Given the description of an element on the screen output the (x, y) to click on. 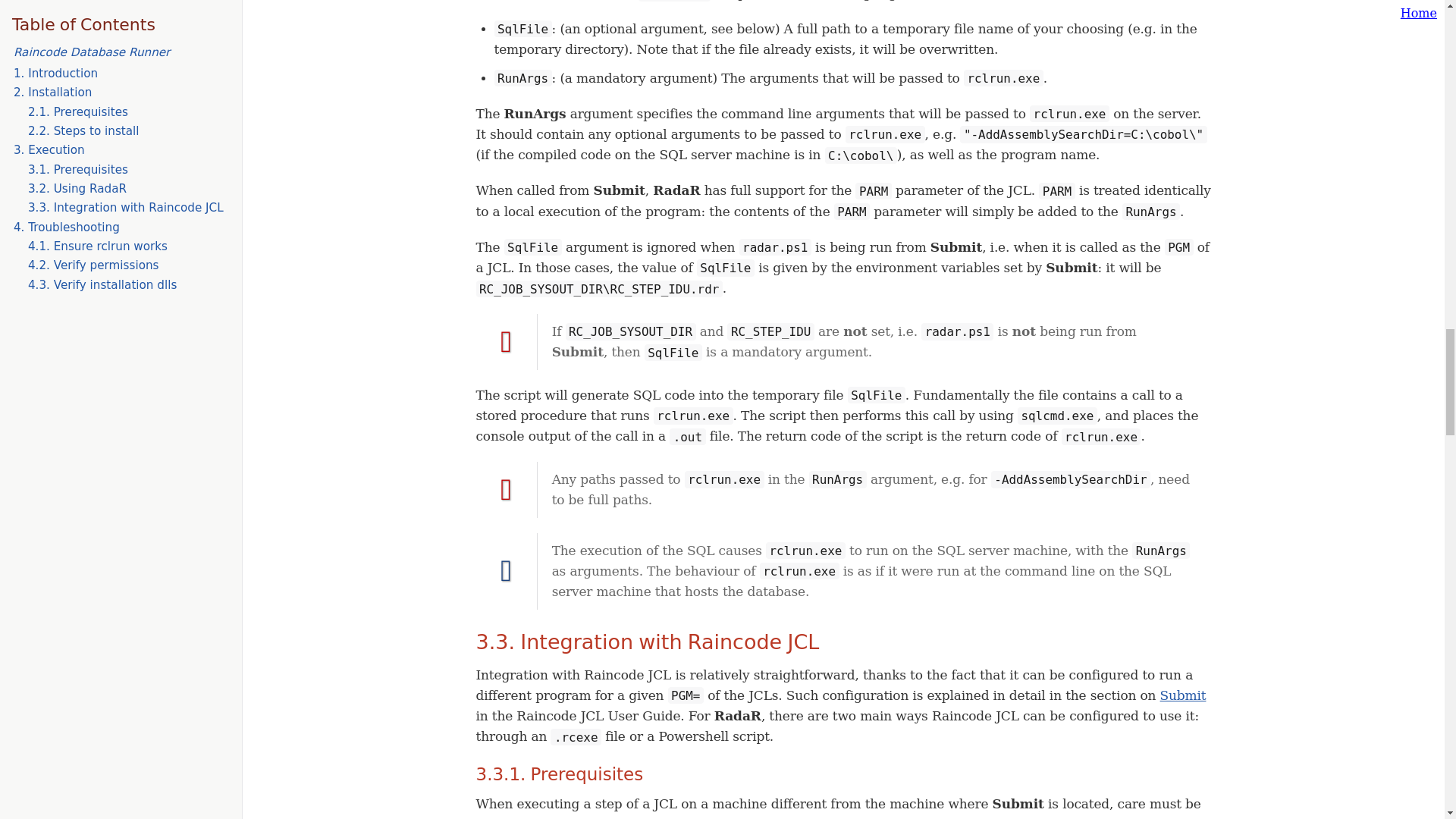
Submit (1183, 694)
Note (506, 571)
Important (506, 490)
Important (506, 341)
